Given the description of an element on the screen output the (x, y) to click on. 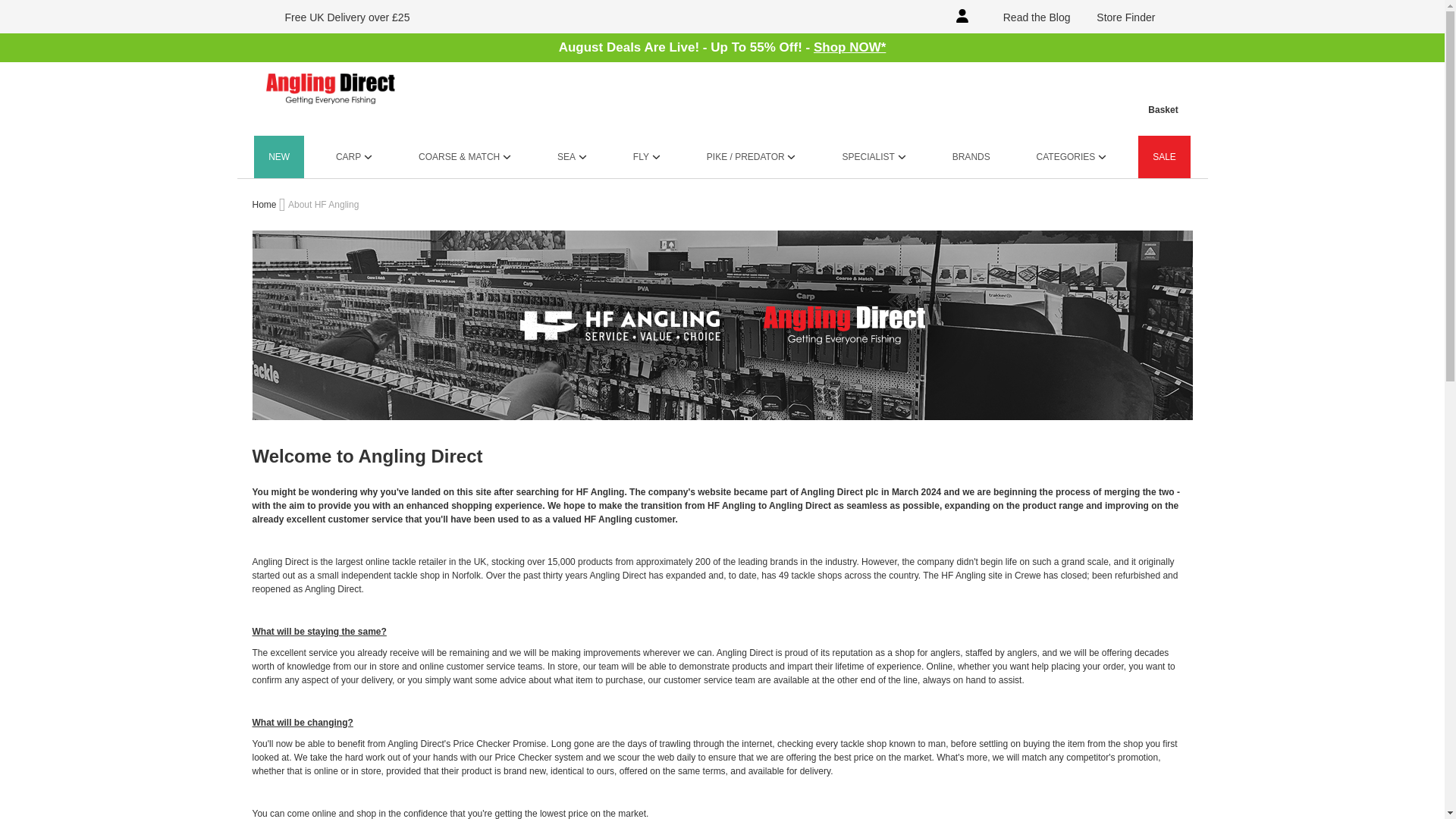
Delivery information (338, 16)
Go to Home Page (264, 204)
Read the Blog (1027, 16)
NEW (278, 156)
Find Angling Direct stores in your area (1115, 16)
CARP (354, 156)
Store Finder (1115, 16)
Read the Angling Direct Blog (1027, 16)
